Given the description of an element on the screen output the (x, y) to click on. 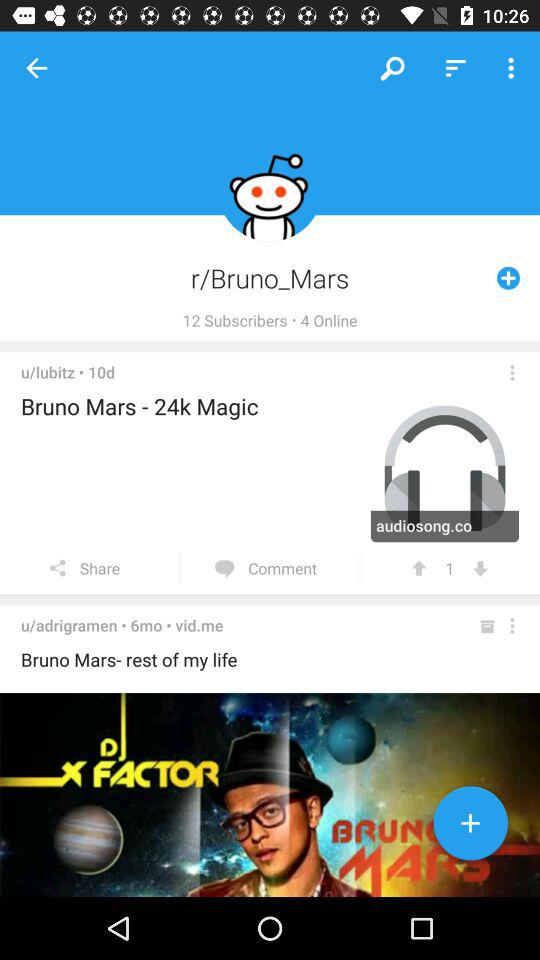
song options (512, 372)
